Given the description of an element on the screen output the (x, y) to click on. 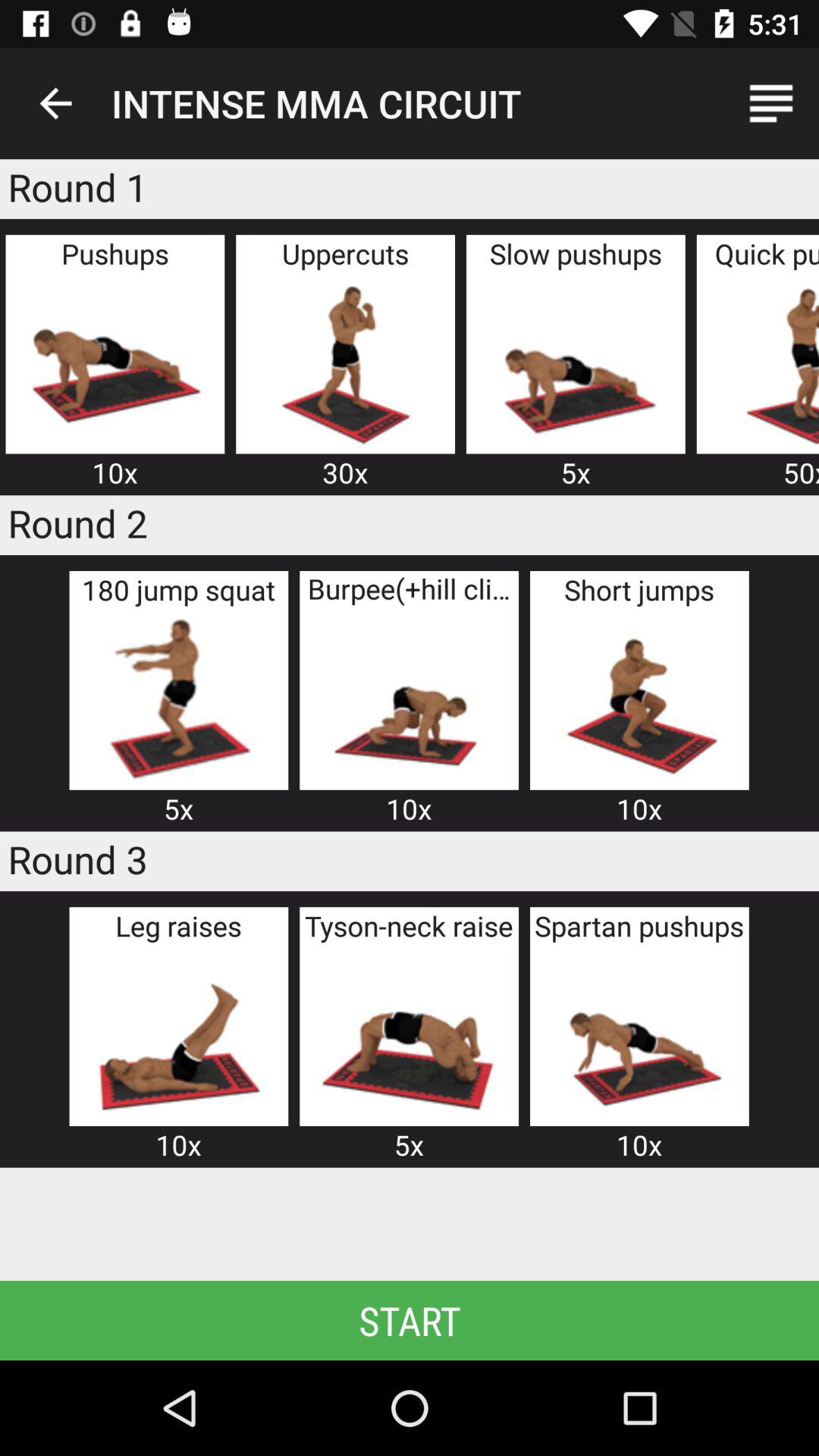
select icon next to short jumps item (408, 698)
